Given the description of an element on the screen output the (x, y) to click on. 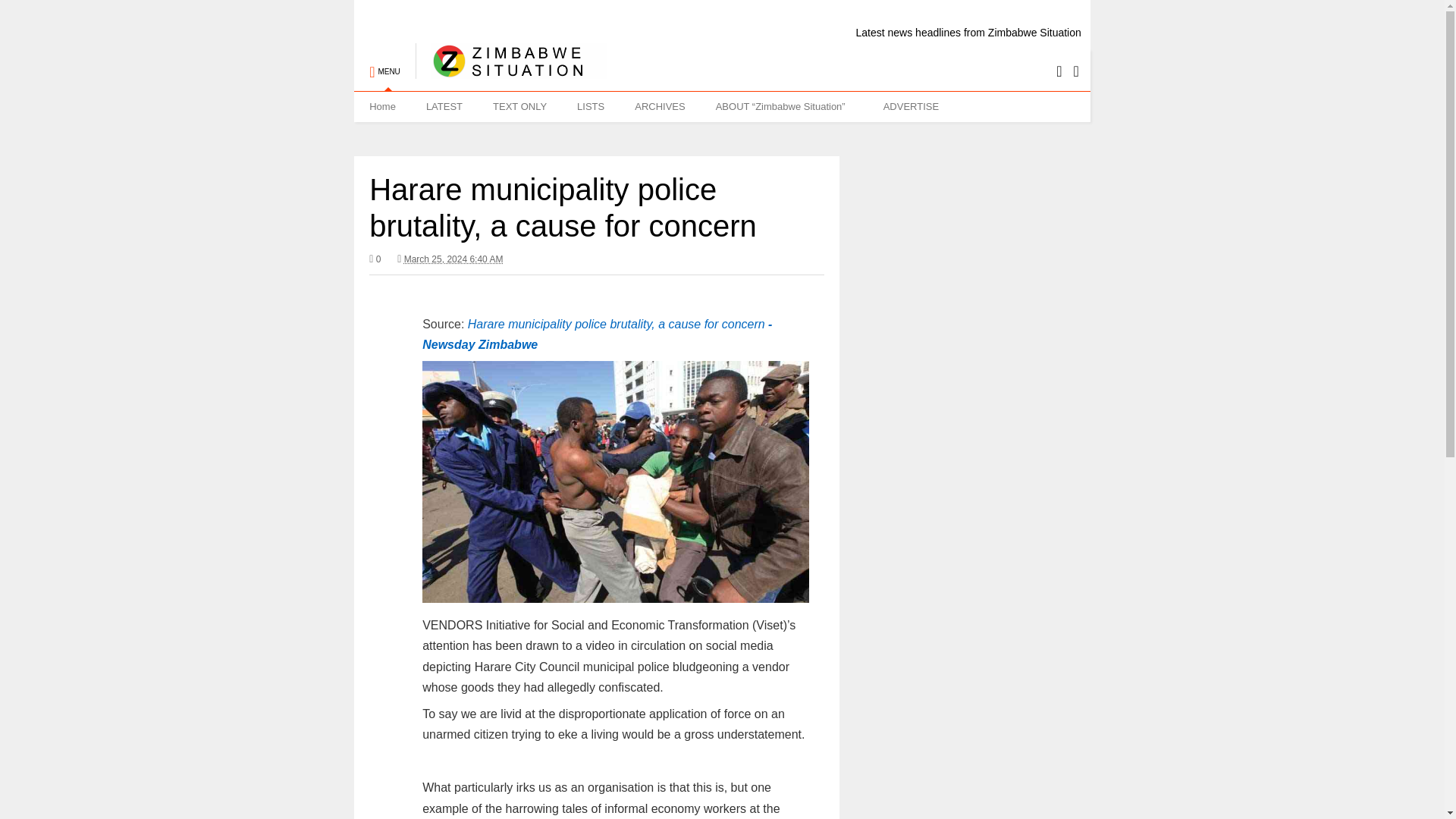
LISTS (591, 106)
0 (374, 258)
Home (381, 106)
LATEST (443, 106)
ADVERTISE (910, 106)
Zimbabwe Situation (510, 71)
facebook (1075, 71)
ARCHIVES (660, 106)
March 25, 2024 5:34 AM (453, 258)
twitter (1059, 71)
March 25, 2024 6:40 AM (449, 258)
TEXT ONLY (519, 106)
MENU (383, 65)
